Given the description of an element on the screen output the (x, y) to click on. 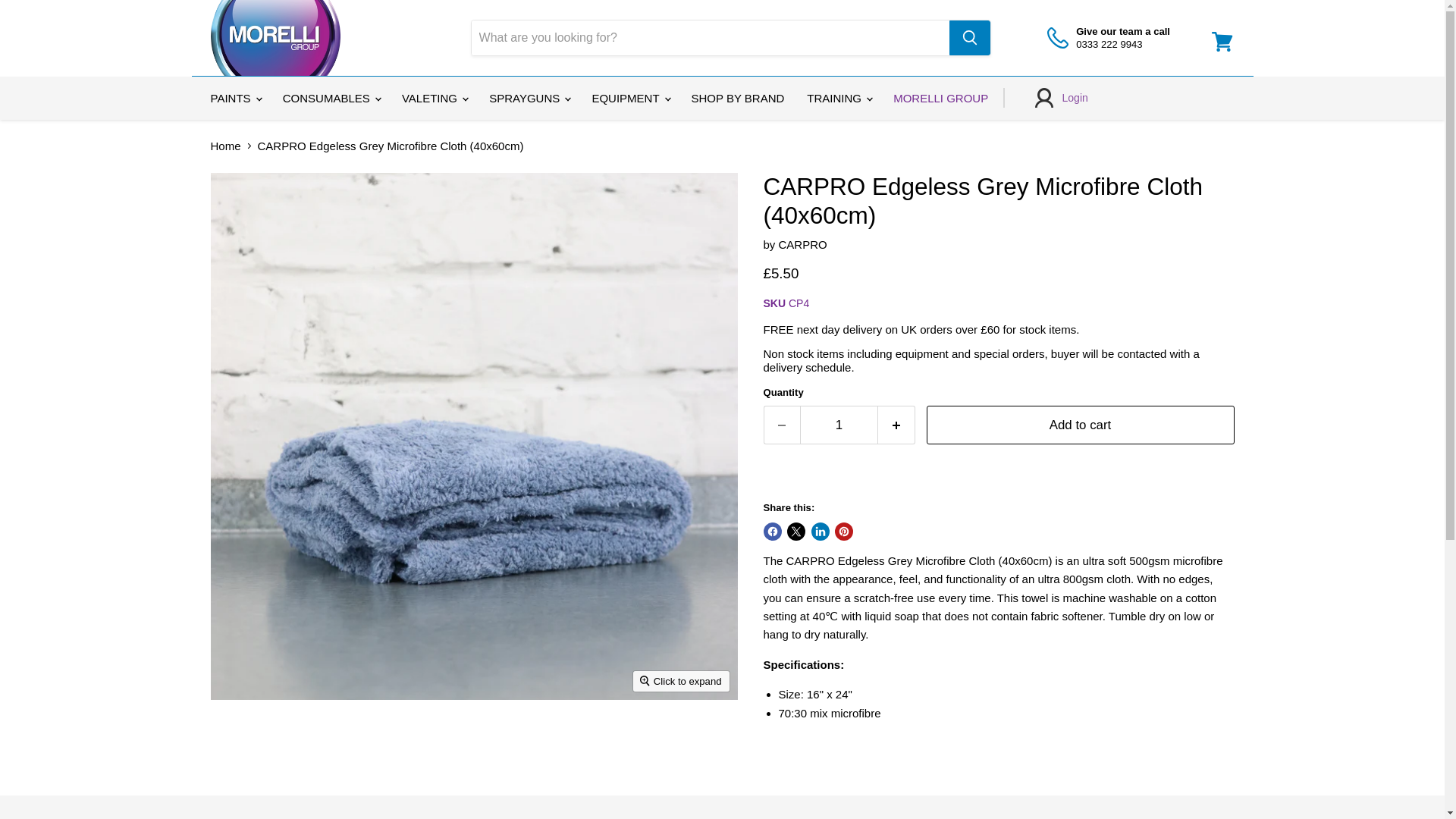
CARPRO (802, 244)
1 (838, 424)
View cart (1222, 41)
